Given the description of an element on the screen output the (x, y) to click on. 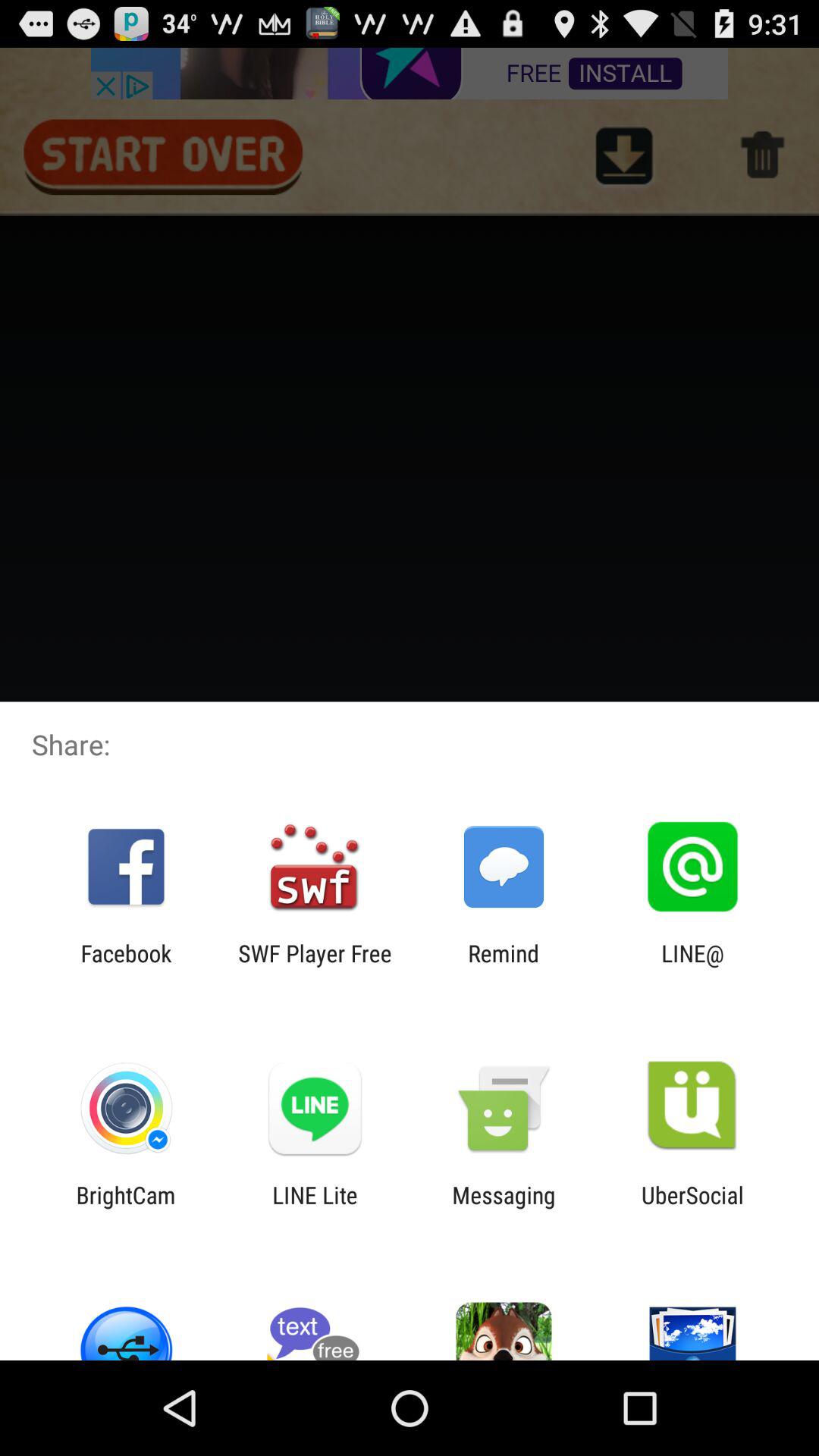
turn on icon next to the messaging icon (692, 1208)
